Given the description of an element on the screen output the (x, y) to click on. 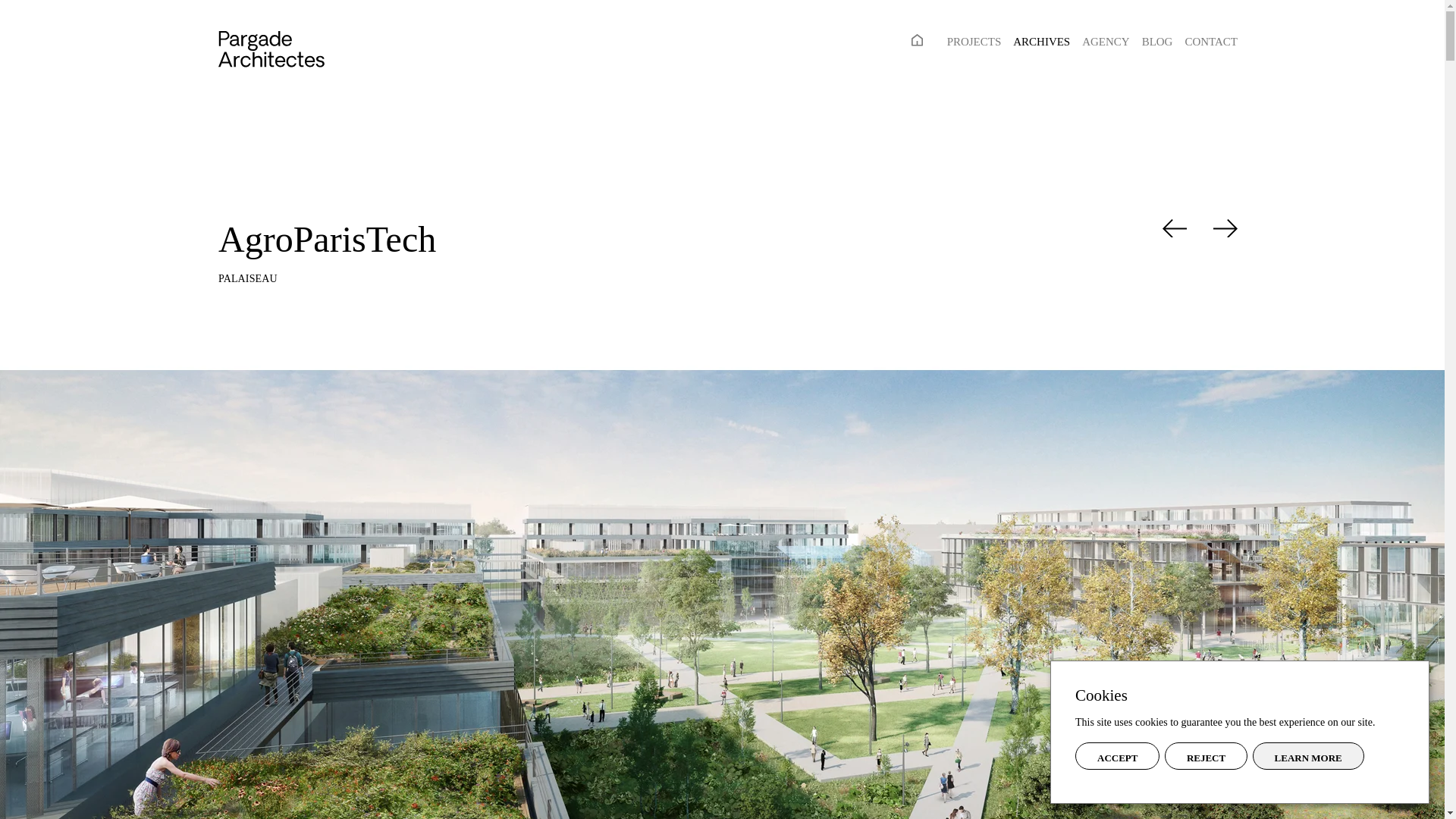
BLOG (1157, 40)
ACCEPT (1116, 755)
CONTACT (1211, 40)
PROJECTS (974, 40)
LEARN MORE (1308, 755)
AGENCY (1105, 40)
ARCHIVES (1041, 40)
REJECT (1205, 755)
